Given the description of an element on the screen output the (x, y) to click on. 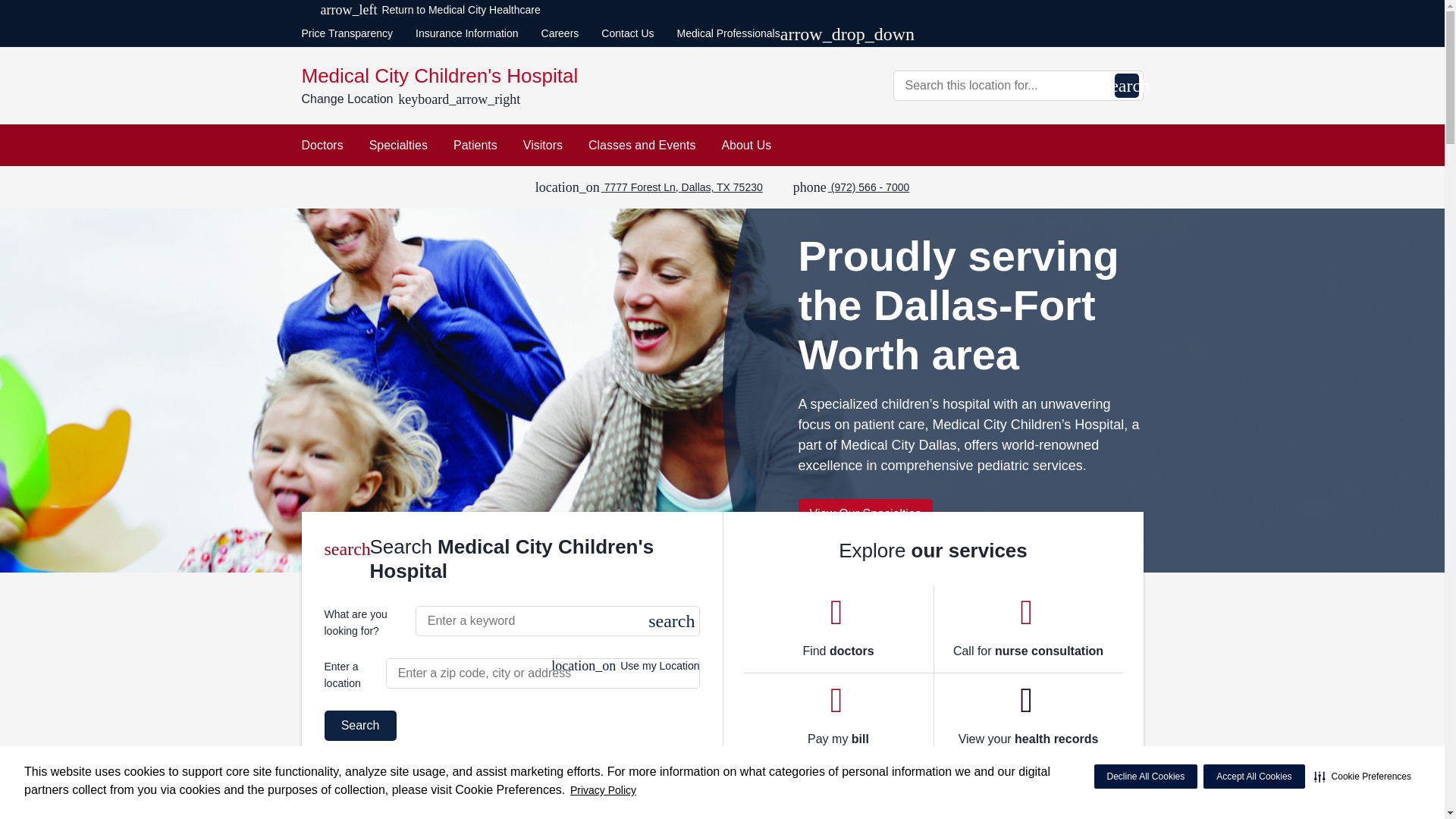
Contact Us (627, 33)
Search our vast network of physicians (837, 628)
Cookie Preferences (1362, 776)
Specialties (398, 145)
Doctors (322, 145)
Call and speak to a nurse today (1028, 628)
Patients (474, 145)
Skip to Content (3, 3)
Careers (560, 33)
View our invoice portal (838, 716)
Accept All Cookies (1254, 776)
search (1126, 85)
Price Transparency (347, 33)
Medical City Children's Hospital (506, 75)
Decline All Cookies (1144, 776)
